Given the description of an element on the screen output the (x, y) to click on. 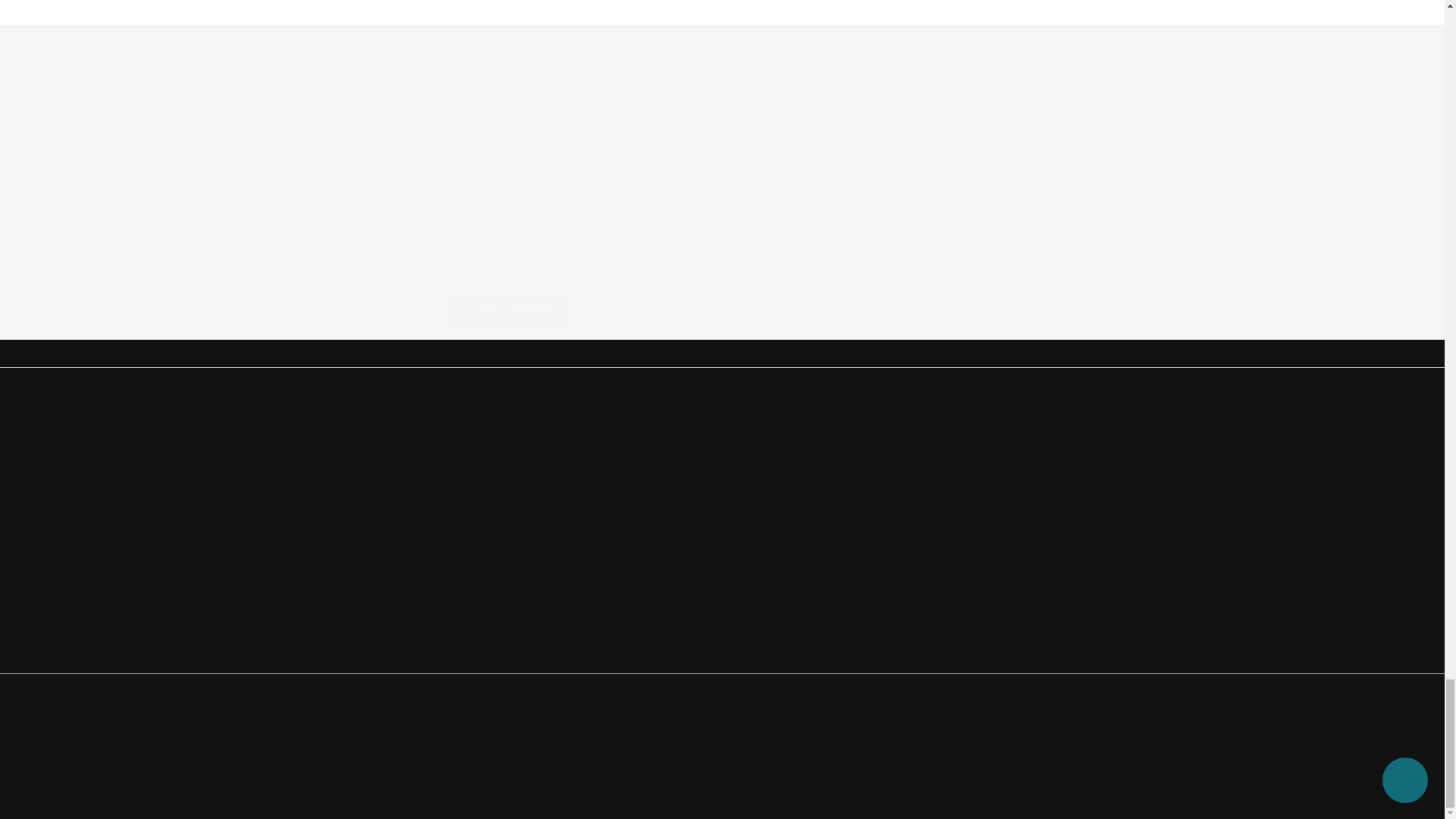
Post comment (510, 309)
